Given the description of an element on the screen output the (x, y) to click on. 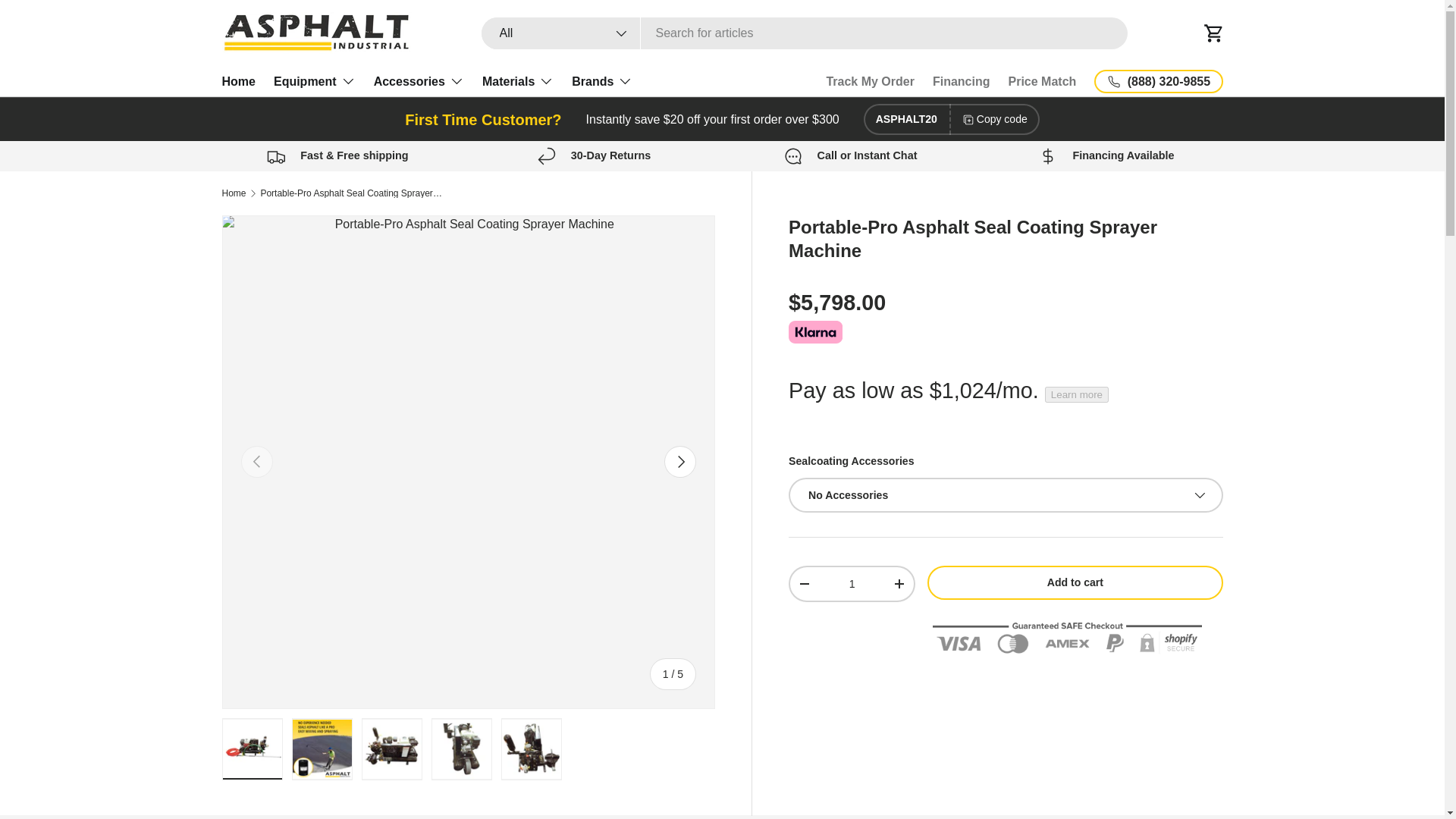
All (560, 33)
Equipment (314, 81)
Cart (1213, 32)
Skip to content (69, 21)
1 (851, 583)
Home (237, 81)
